Given the description of an element on the screen output the (x, y) to click on. 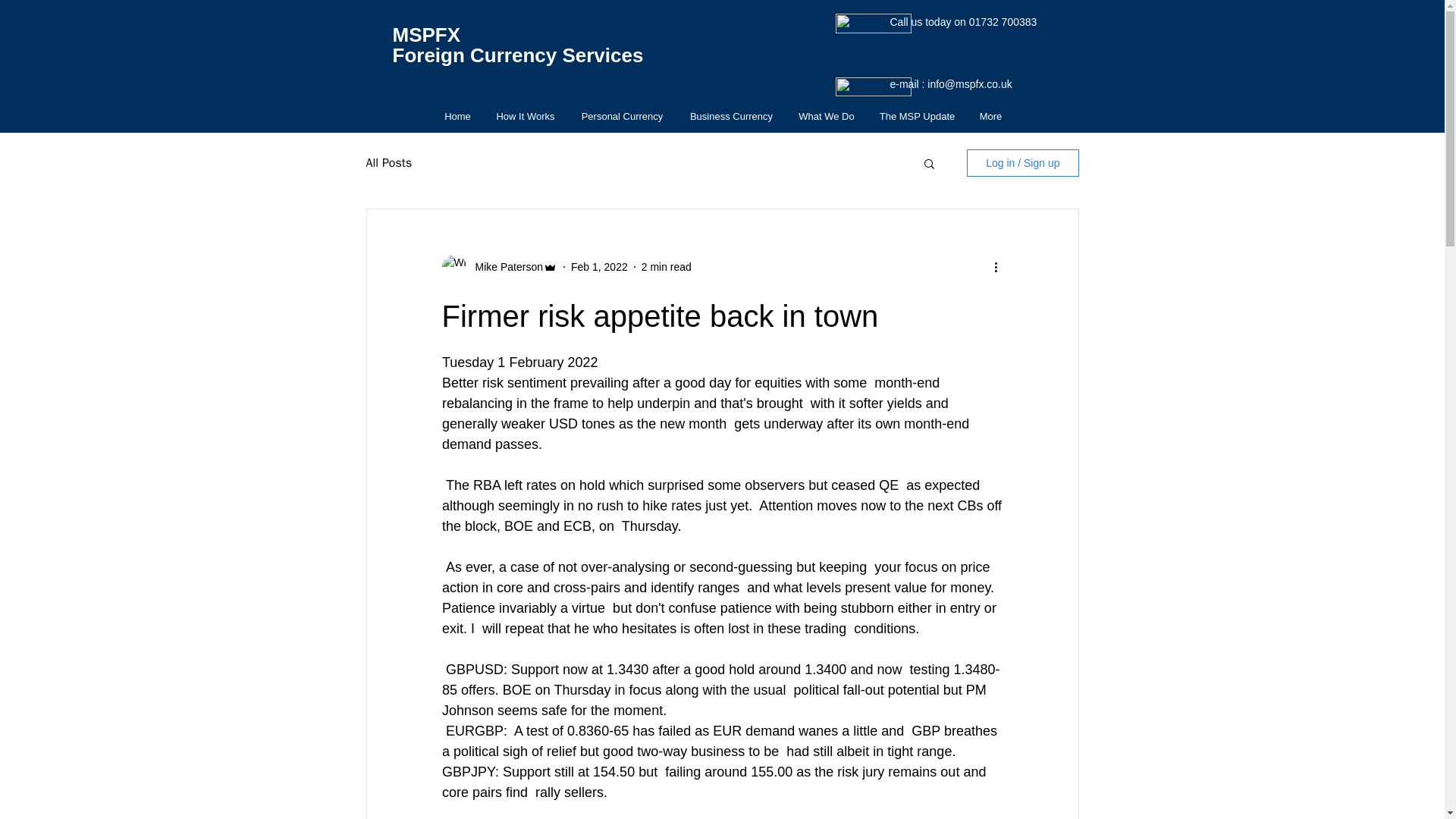
Feb 1, 2022 (598, 266)
Business Currency (731, 116)
Personal Currency (622, 116)
All Posts (388, 162)
How It Works (525, 116)
Home (457, 116)
The MSP Update (917, 116)
Mike Paterson (503, 267)
What We Do (826, 116)
2 min read (666, 266)
